Given the description of an element on the screen output the (x, y) to click on. 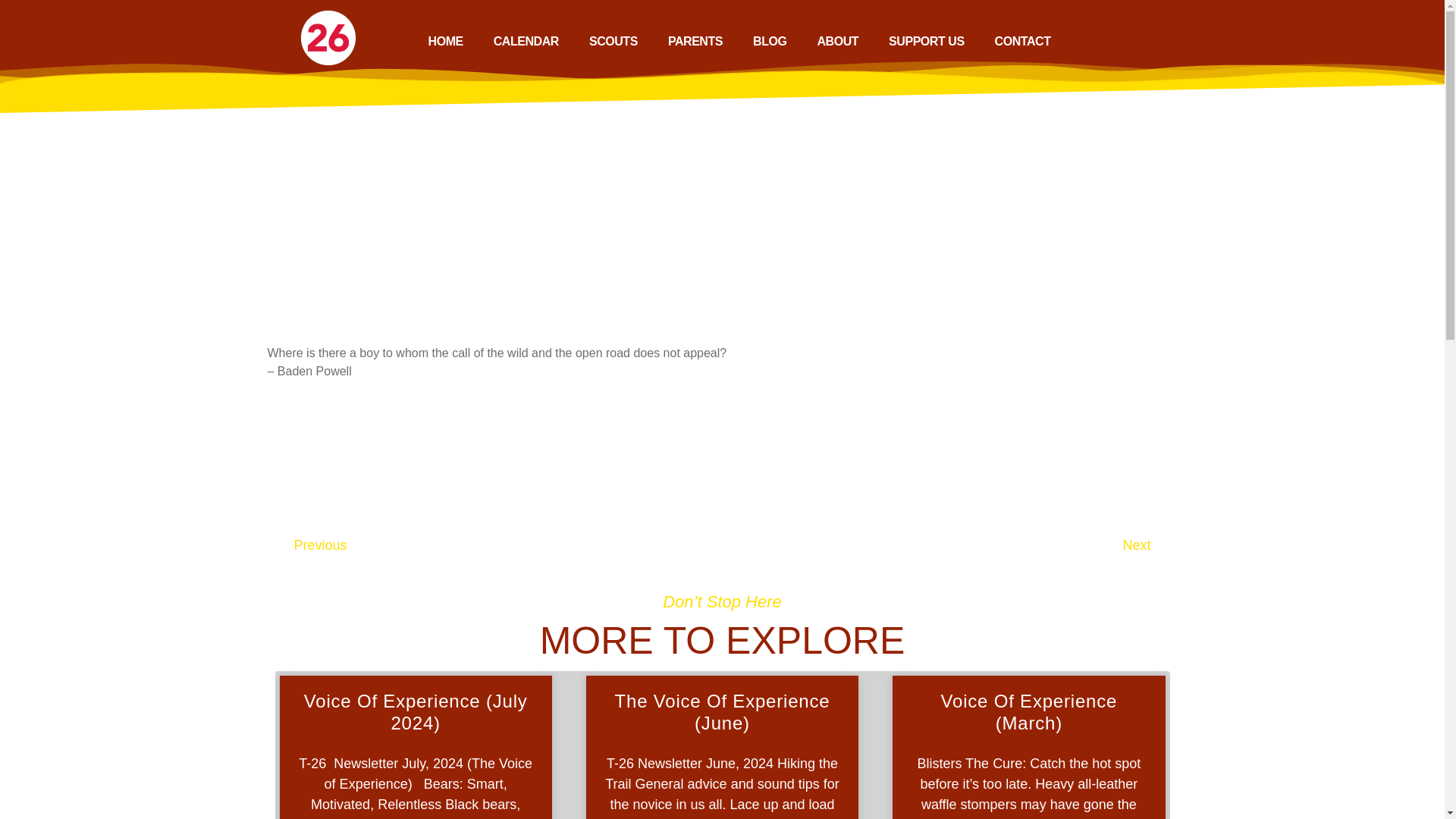
HOME (446, 41)
SCOUTS (613, 41)
cropped-troop26-icon.png (327, 37)
CONTACT (1022, 41)
BLOG (769, 41)
PARENTS (694, 41)
ABOUT (836, 41)
SUPPORT US (926, 41)
CALENDAR (525, 41)
